Given the description of an element on the screen output the (x, y) to click on. 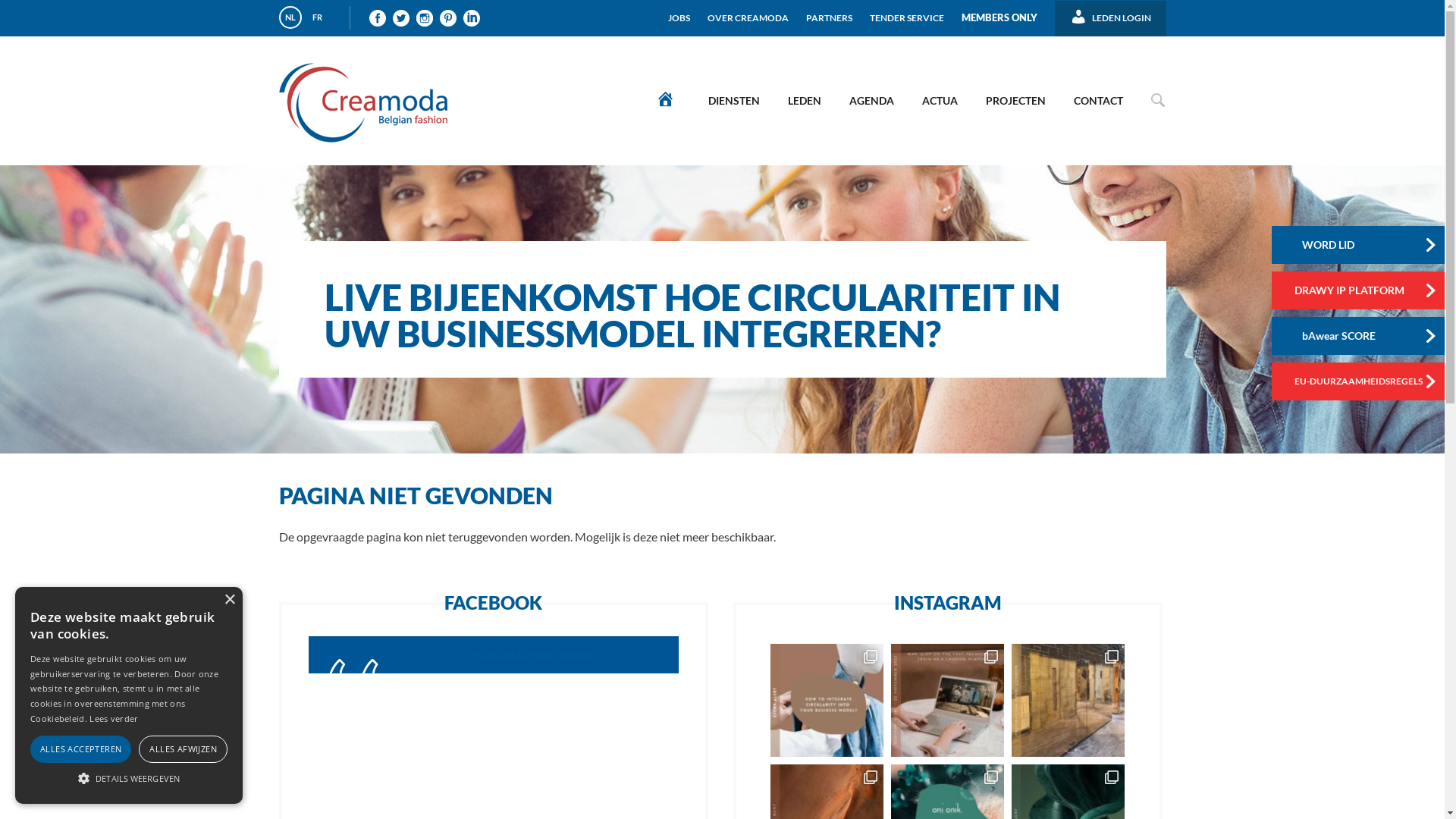
NL Element type: text (290, 17)
DRAWY IP PLATFORM Element type: text (1359, 290)
AGENDA Element type: text (870, 100)
Creamoda Belgian Fashion Element type: text (527, 654)
WORD LID Element type: text (1359, 244)
LEDEN Element type: text (804, 100)
bAwear SCORE Element type: text (1359, 335)
LEDEN LOGIN Element type: text (1110, 12)
EU-DUURZAAMHEIDSREGELS Element type: text (1359, 381)
ACTUA Element type: text (938, 100)
JOBS Element type: text (679, 11)
TENDER SERVICE Element type: text (906, 11)
PARTNERS Element type: text (829, 11)
OVER CREAMODA Element type: text (747, 11)
MEMBERS ONLY Element type: text (999, 11)
CONTACT Element type: text (1097, 100)
PROJECTEN Element type: text (1014, 100)
Lees verder Element type: text (113, 718)
DIENSTEN Element type: text (732, 100)
FR Element type: text (317, 17)
